Given the description of an element on the screen output the (x, y) to click on. 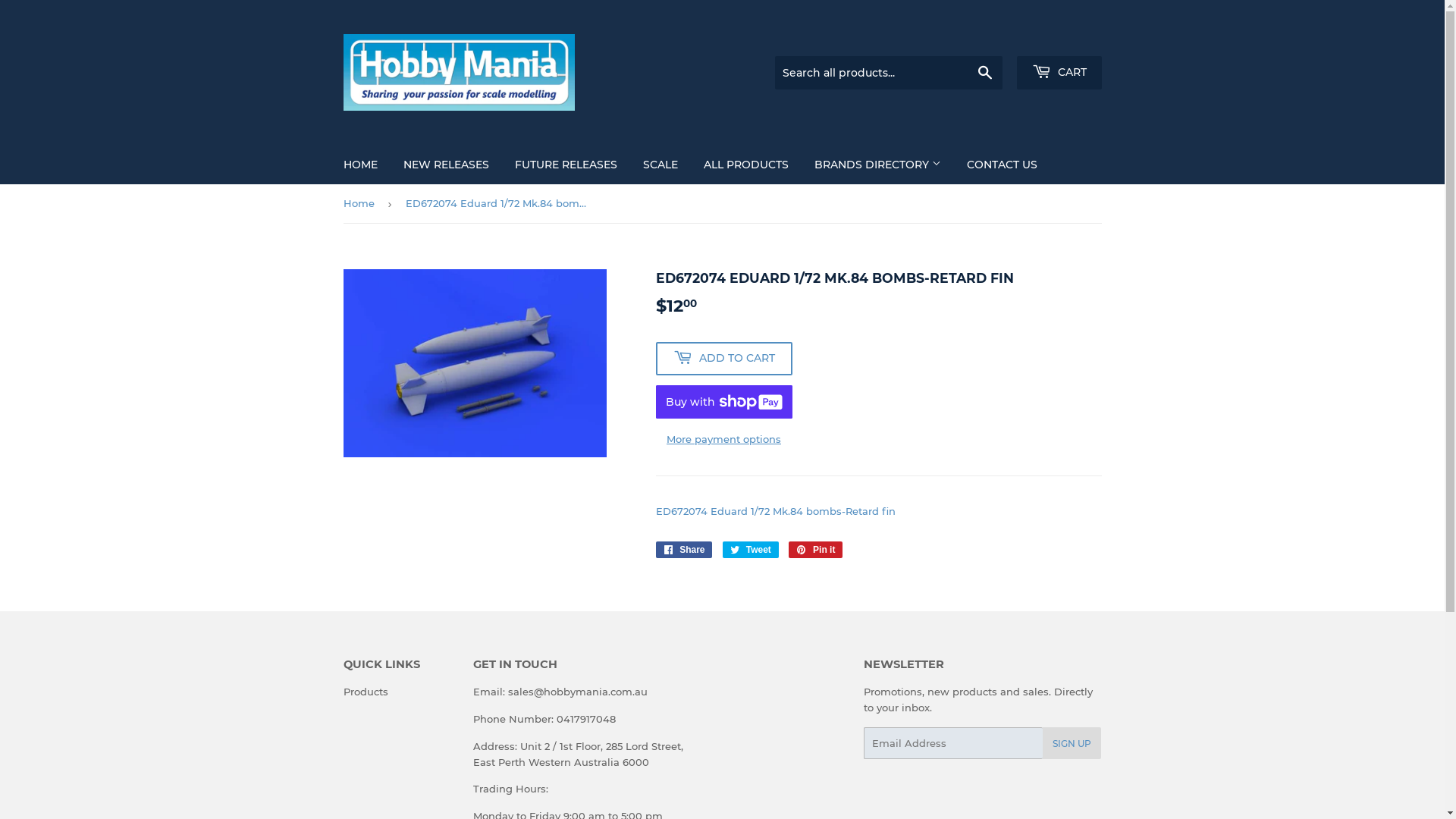
Products Element type: text (364, 691)
ADD TO CART Element type: text (723, 358)
CONTACT US Element type: text (1001, 164)
ALL PRODUCTS Element type: text (745, 164)
HOME Element type: text (360, 164)
SIGN UP Element type: text (1071, 743)
Share
Share on Facebook Element type: text (683, 549)
More payment options Element type: text (723, 439)
BRANDS DIRECTORY Element type: text (876, 164)
NEW RELEASES Element type: text (445, 164)
Home Element type: text (360, 203)
Pin it
Pin on Pinterest Element type: text (815, 549)
CART Element type: text (1058, 72)
FUTURE RELEASES Element type: text (565, 164)
SCALE Element type: text (659, 164)
Tweet
Tweet on Twitter Element type: text (750, 549)
Search Element type: text (984, 73)
